Given the description of an element on the screen output the (x, y) to click on. 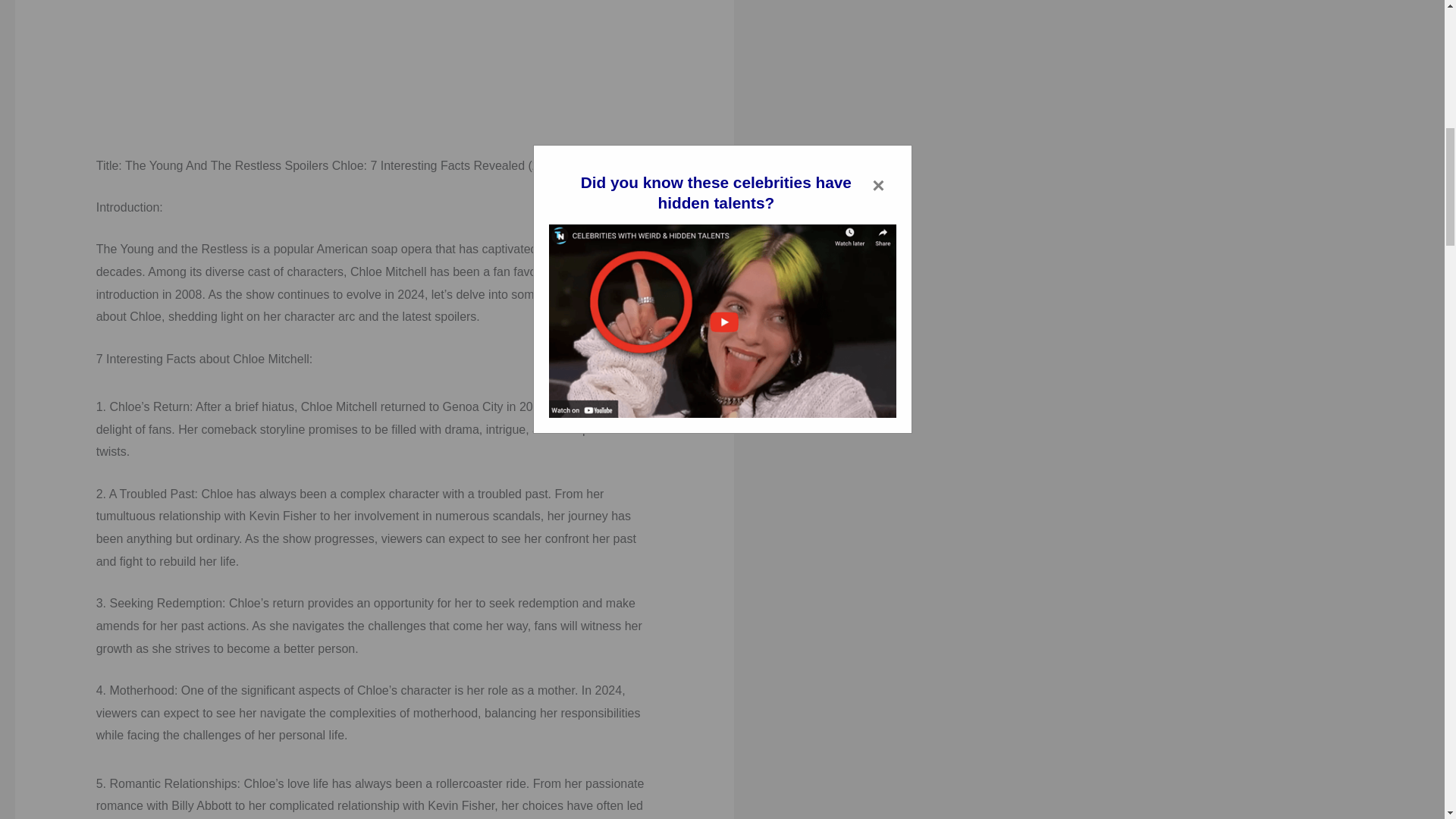
Advertisement (374, 68)
